Given the description of an element on the screen output the (x, y) to click on. 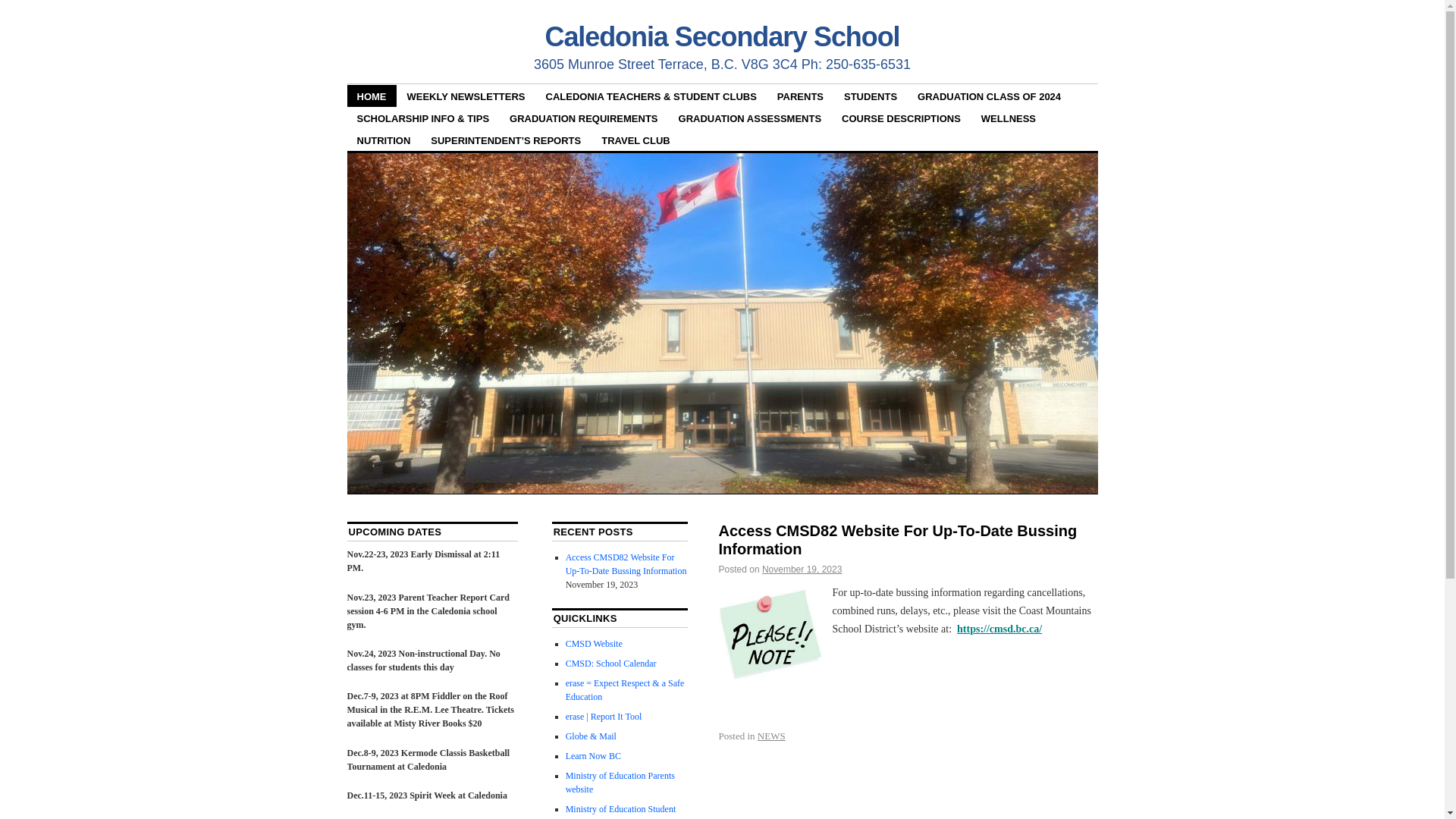
November 19, 2023 Element type: text (801, 569)
Ministry of Education Parents website Element type: text (619, 782)
WELLNESS Element type: text (1008, 117)
CALEDONIA TEACHERS & STUDENT CLUBS Element type: text (651, 95)
Globe & Mail Element type: text (590, 736)
Access CMSD82 Website For Up-To-Date Bussing Information Element type: text (626, 564)
COURSE DESCRIPTIONS Element type: text (900, 117)
NUTRITION Element type: text (383, 139)
NEWS Element type: text (771, 735)
GRADUATION ASSESSMENTS Element type: text (749, 117)
WEEKLY NEWSLETTERS Element type: text (466, 95)
HOME Element type: text (371, 95)
TRAVEL CLUB Element type: text (635, 139)
Caledonia Secondary School Element type: text (721, 36)
CMSD Website Element type: text (593, 643)
erase = Expect Respect & a Safe Education Element type: text (624, 689)
Access CMSD82 Website For Up-To-Date Bussing Information Element type: text (897, 539)
GRADUATION REQUIREMENTS Element type: text (583, 117)
Learn Now BC Element type: text (593, 755)
erase | Report It Tool Element type: text (603, 716)
STUDENTS Element type: text (870, 95)
https://cmsd.bc.ca/ Element type: text (999, 628)
PARENTS Element type: text (800, 95)
CMSD: School Calendar Element type: text (610, 663)
SCHOLARSHIP INFO & TIPS Element type: text (423, 117)
GRADUATION CLASS OF 2024 Element type: text (988, 95)
